Given the description of an element on the screen output the (x, y) to click on. 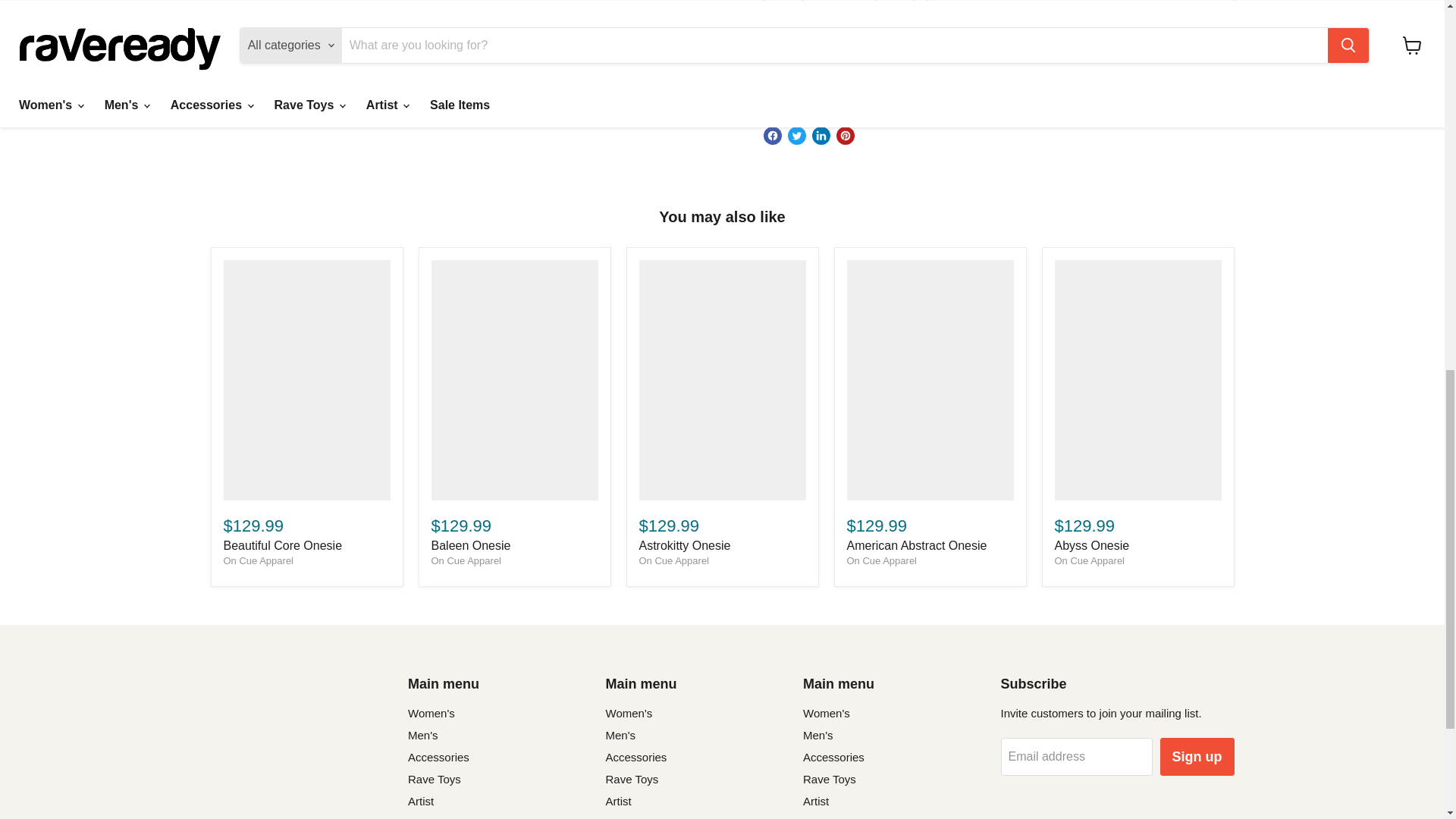
On Cue Apparel (881, 560)
On Cue Apparel (674, 560)
1 (839, 20)
On Cue Apparel (1089, 560)
On Cue Apparel (258, 560)
On Cue Apparel (465, 560)
